Given the description of an element on the screen output the (x, y) to click on. 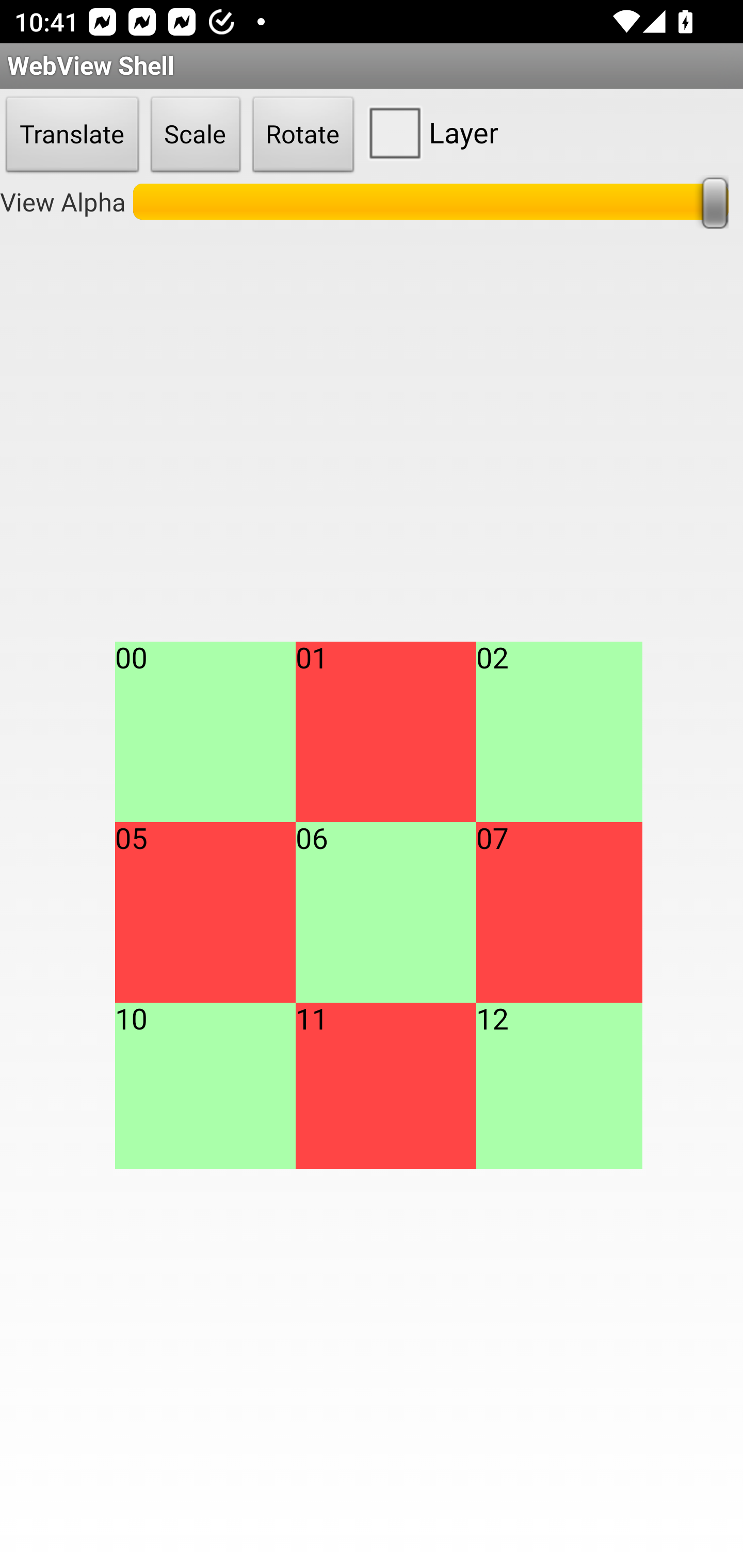
Layer (429, 132)
Translate (72, 135)
Scale (195, 135)
Rotate (303, 135)
